Given the description of an element on the screen output the (x, y) to click on. 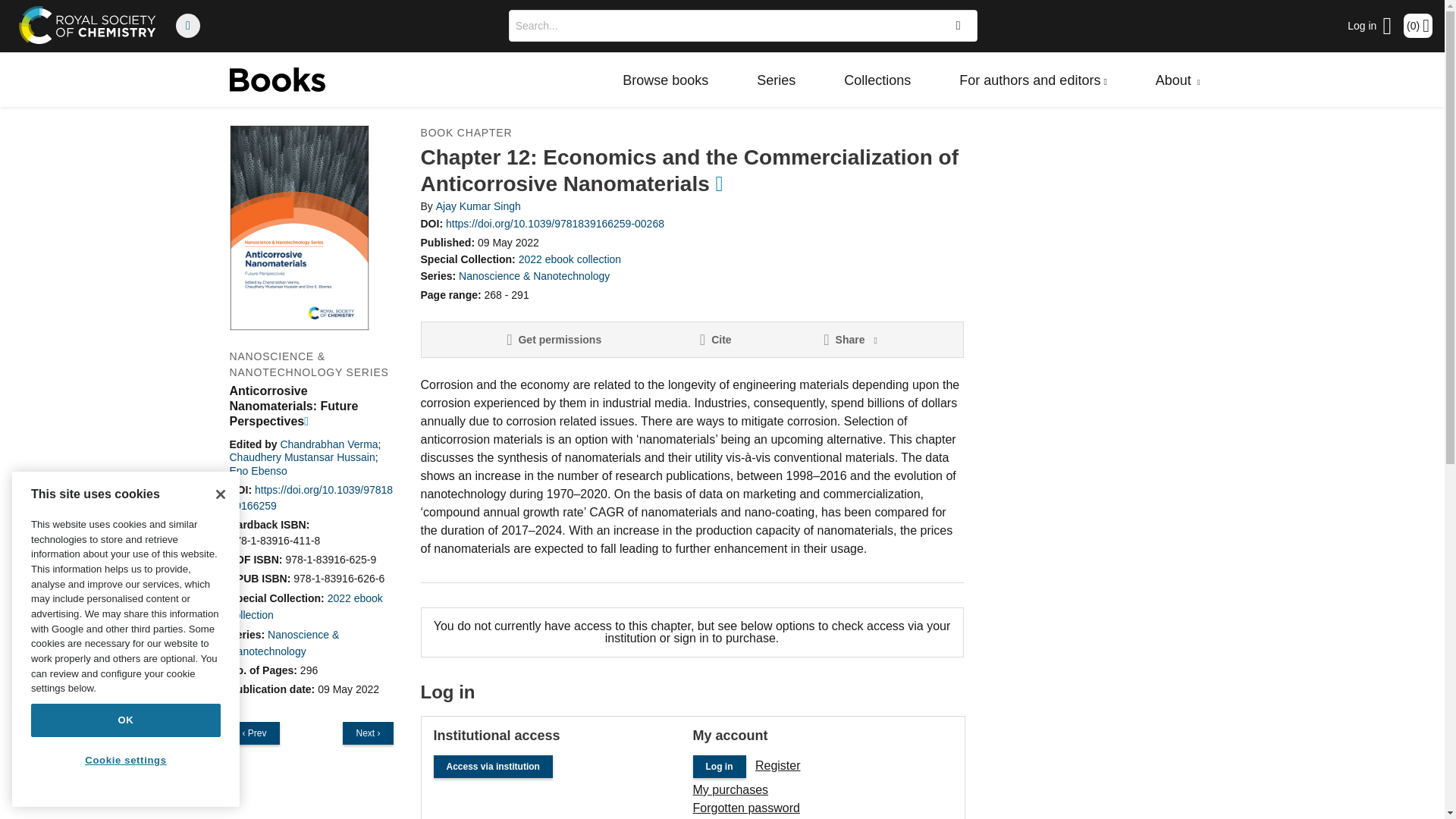
search input (721, 25)
Chandrabhan Verma (328, 444)
For authors and editors (1032, 79)
Browse books (665, 79)
Series (775, 79)
About (1177, 79)
Log in (1369, 25)
Chaudhery Mustansar Hussain (301, 457)
Collections (877, 79)
